Given the description of an element on the screen output the (x, y) to click on. 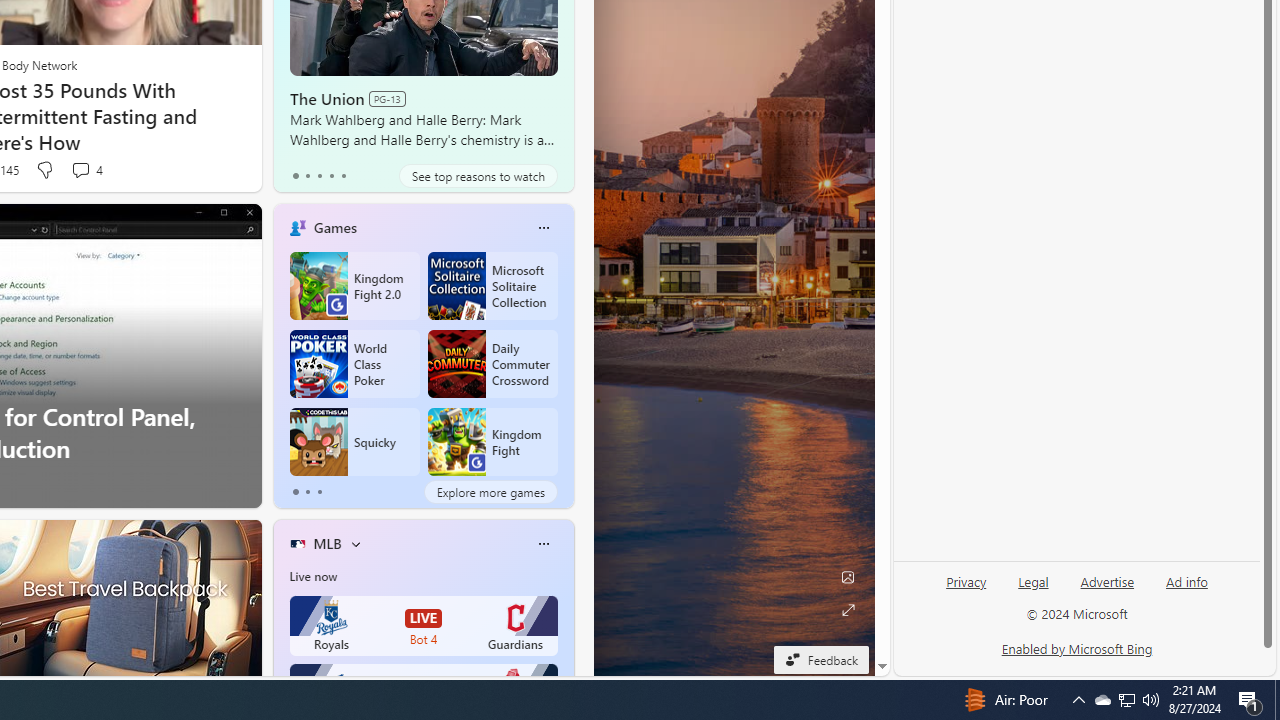
Class: sd-card-game-item-img-inner (456, 441)
Edit Background (847, 577)
tab-2 (319, 491)
View comments 4 Comment (80, 169)
tab-0 (295, 491)
tab-1 (306, 491)
Games (335, 227)
View comments 4 Comment (86, 170)
More interests (355, 543)
